Given the description of an element on the screen output the (x, y) to click on. 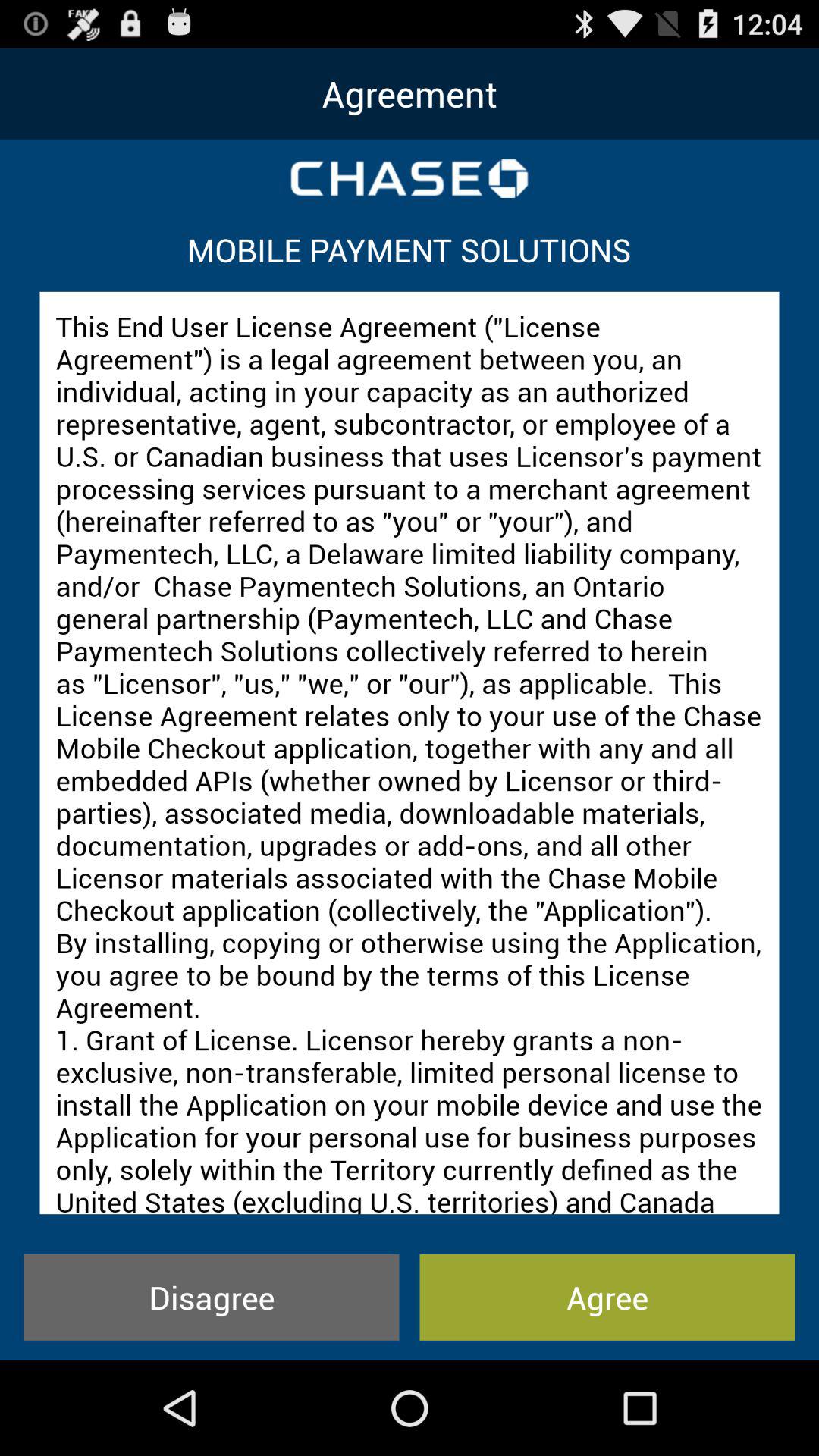
launch the icon to the left of agree icon (211, 1297)
